Given the description of an element on the screen output the (x, y) to click on. 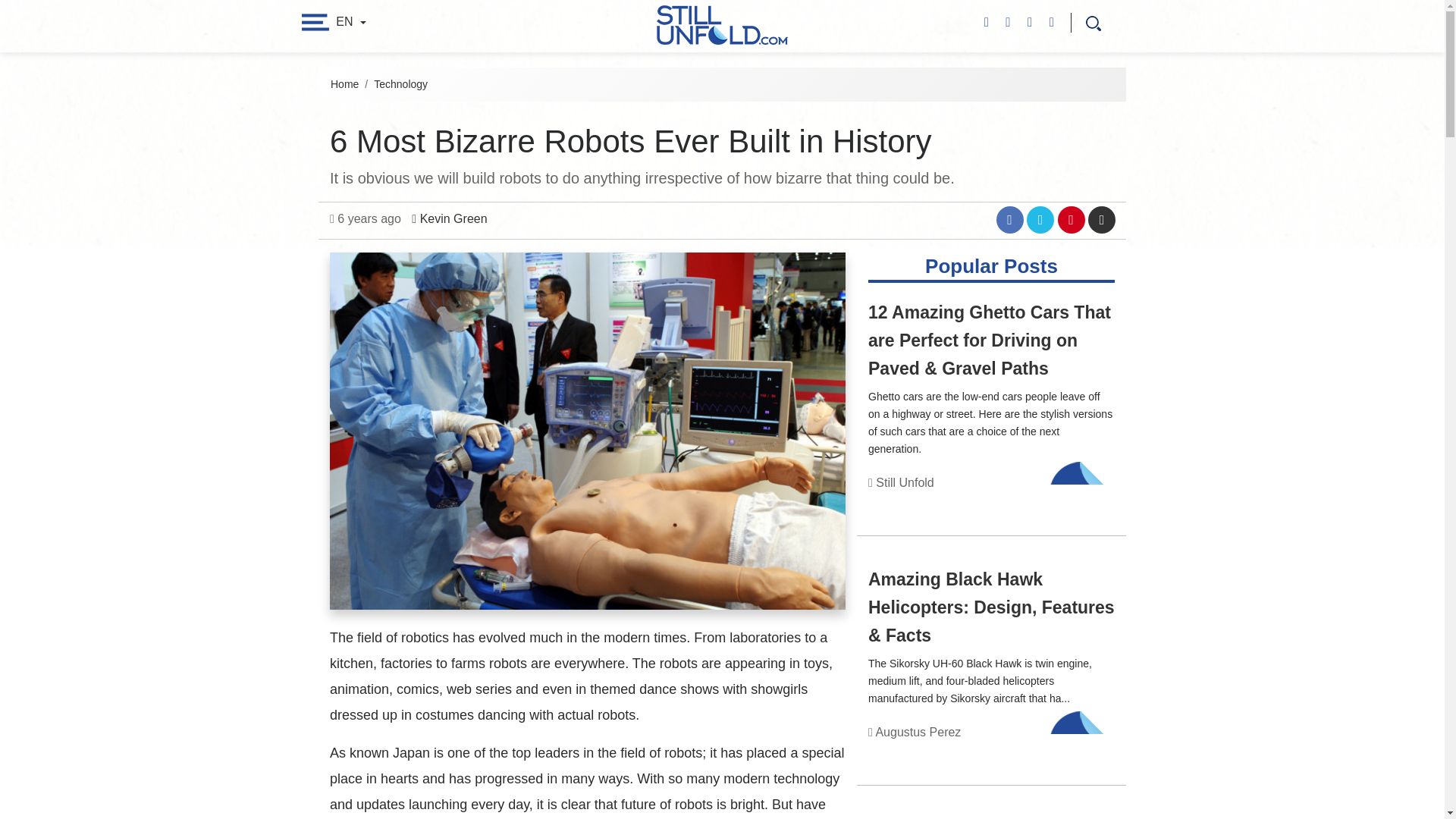
Technology (401, 83)
Technology (1082, 499)
Home (344, 83)
Technology (1082, 748)
Technology (1082, 748)
Technology (1082, 499)
Kevin Green (449, 218)
EN (350, 21)
